Given the description of an element on the screen output the (x, y) to click on. 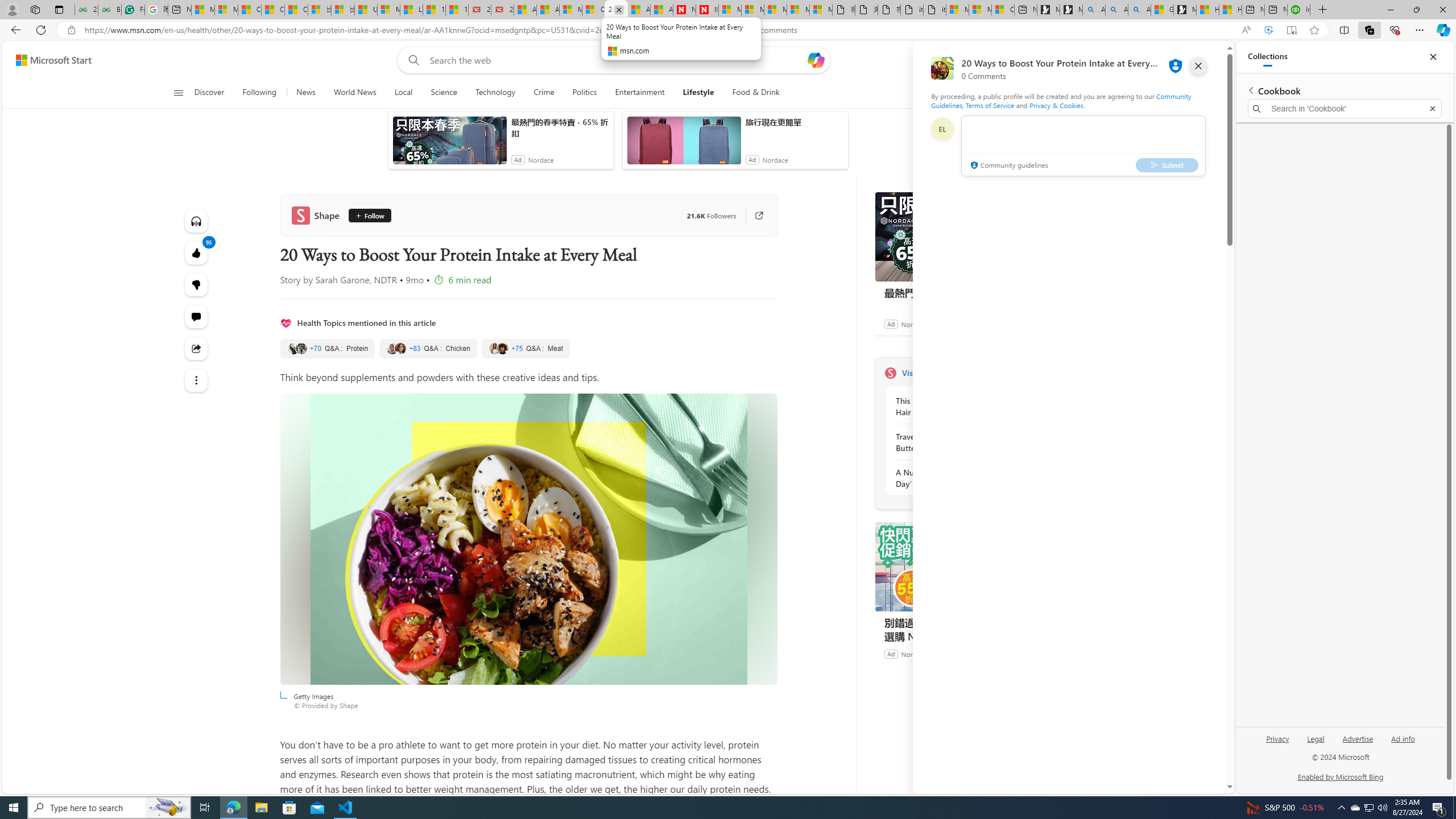
Food & Drink (751, 92)
itconcepthk.com/projector_solutions.mp4 (934, 9)
Microsoft rewards (1154, 60)
Enter Immersive Reader (F9) (1291, 29)
Notifications (1177, 60)
Personalize (1019, 92)
Entertainment (639, 92)
Best SSL Certificates Provider in India - GeeksforGeeks (109, 9)
Crime (543, 92)
Politics (584, 92)
Open settings (1199, 60)
Class: at-item (196, 380)
